Given the description of an element on the screen output the (x, y) to click on. 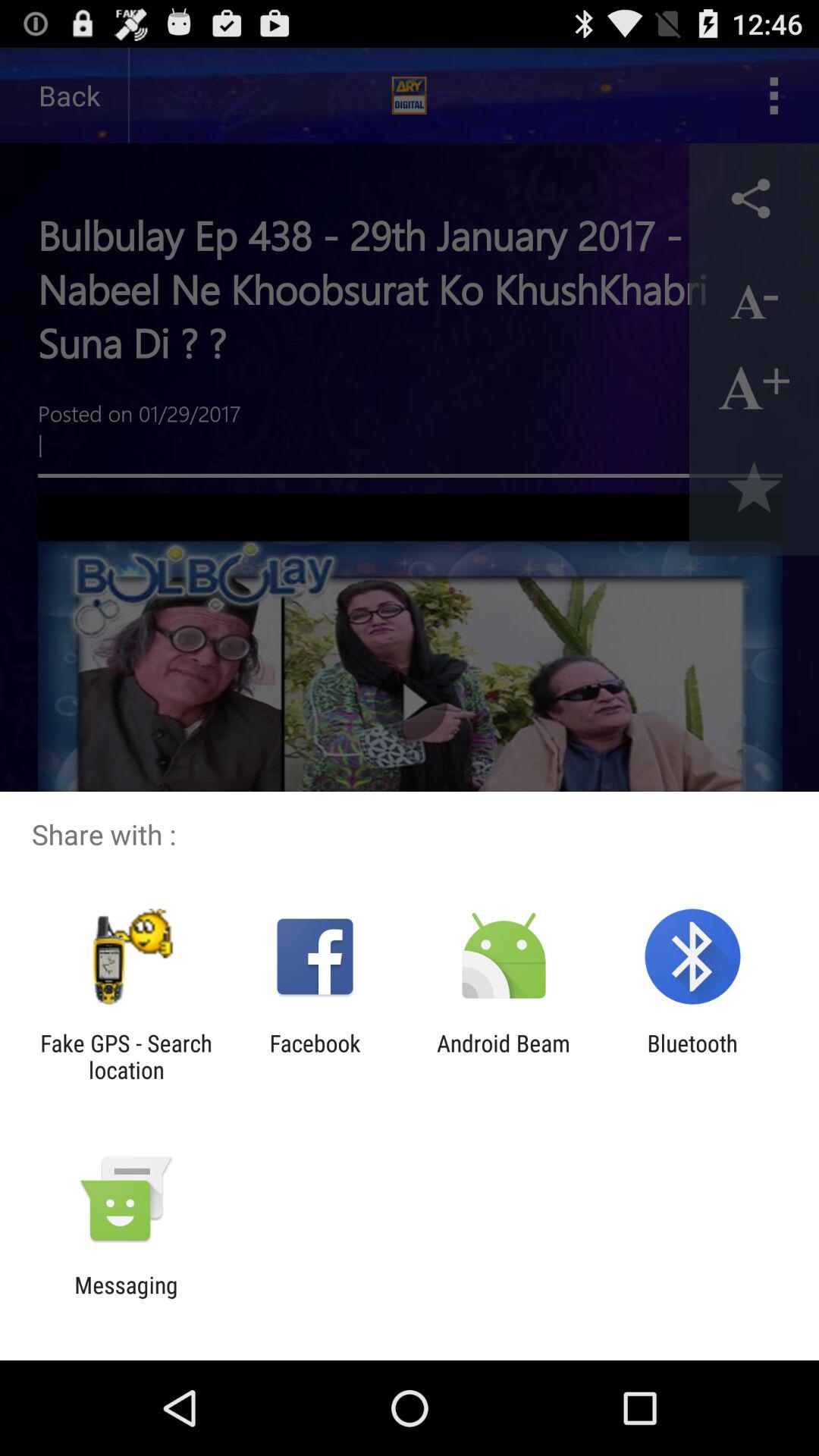
turn off bluetooth item (692, 1056)
